Given the description of an element on the screen output the (x, y) to click on. 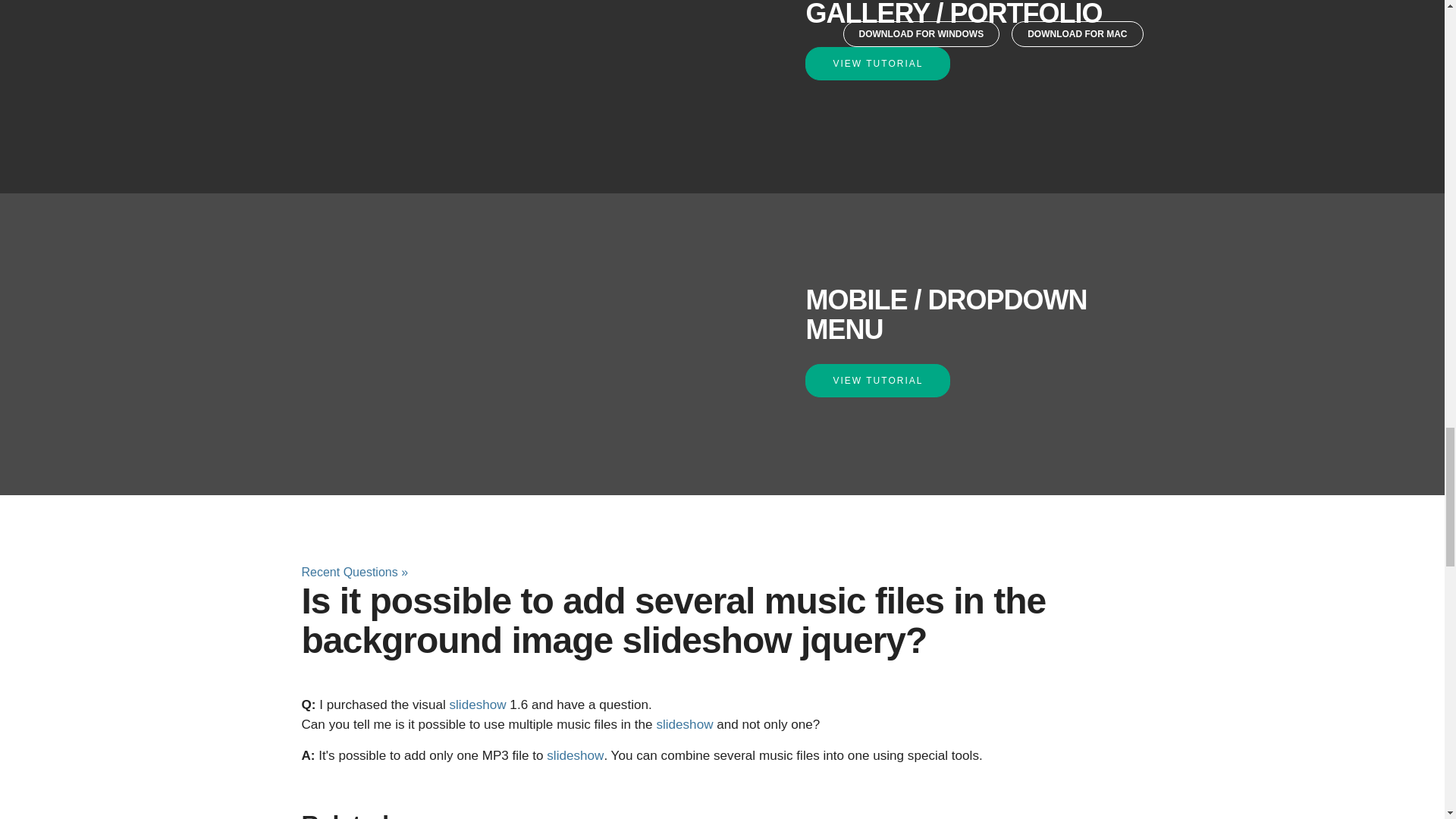
slideshow (476, 704)
VIEW TUTORIAL (877, 63)
slideshow (684, 724)
VIEW TUTORIAL (877, 380)
slideshow (575, 755)
